Given the description of an element on the screen output the (x, y) to click on. 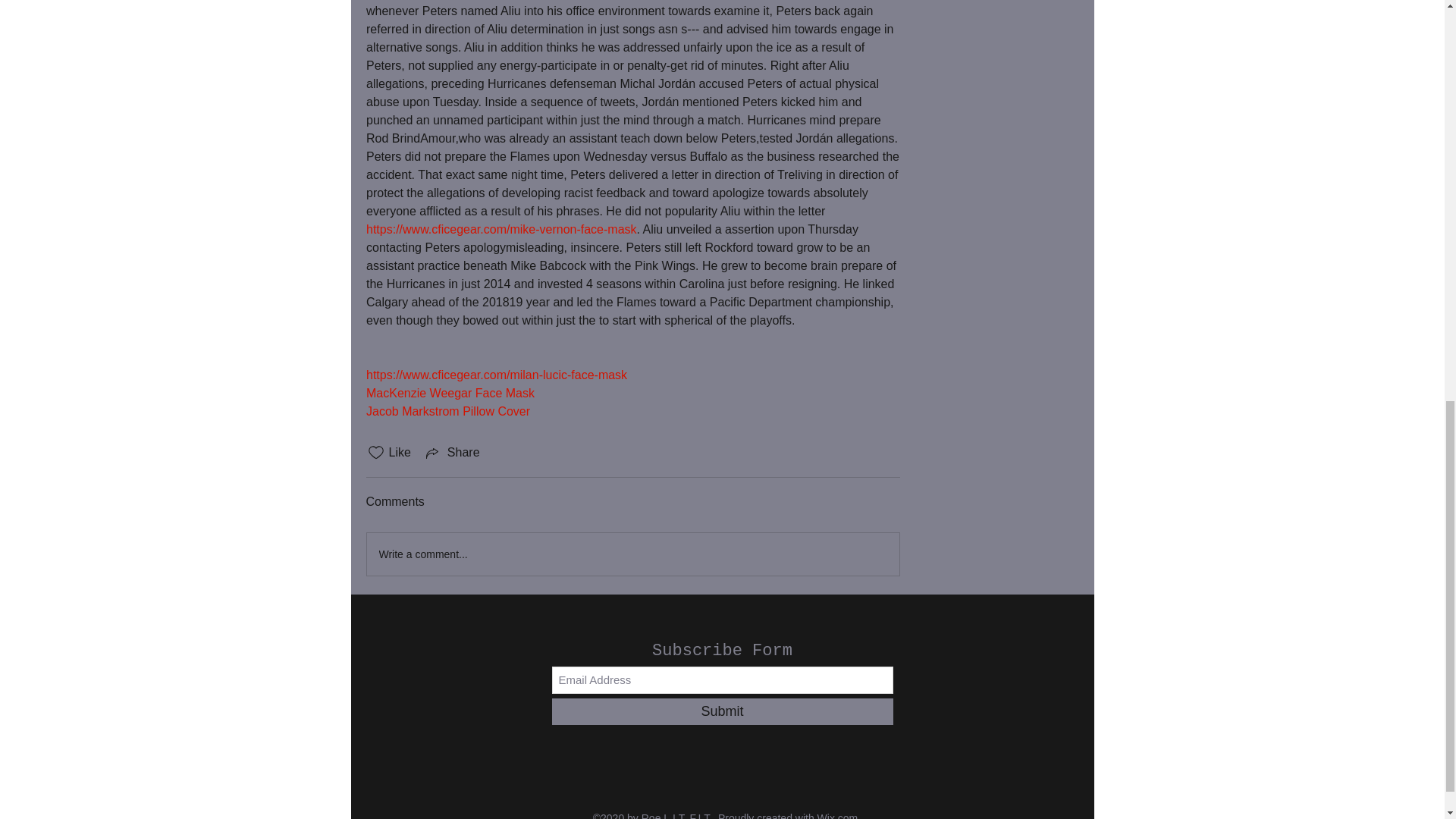
Share (451, 452)
Jacob Markstrom Pillow Cover (447, 410)
MacKenzie Weegar Face Mask (449, 392)
Submit (722, 711)
Write a comment... (632, 554)
